Given the description of an element on the screen output the (x, y) to click on. 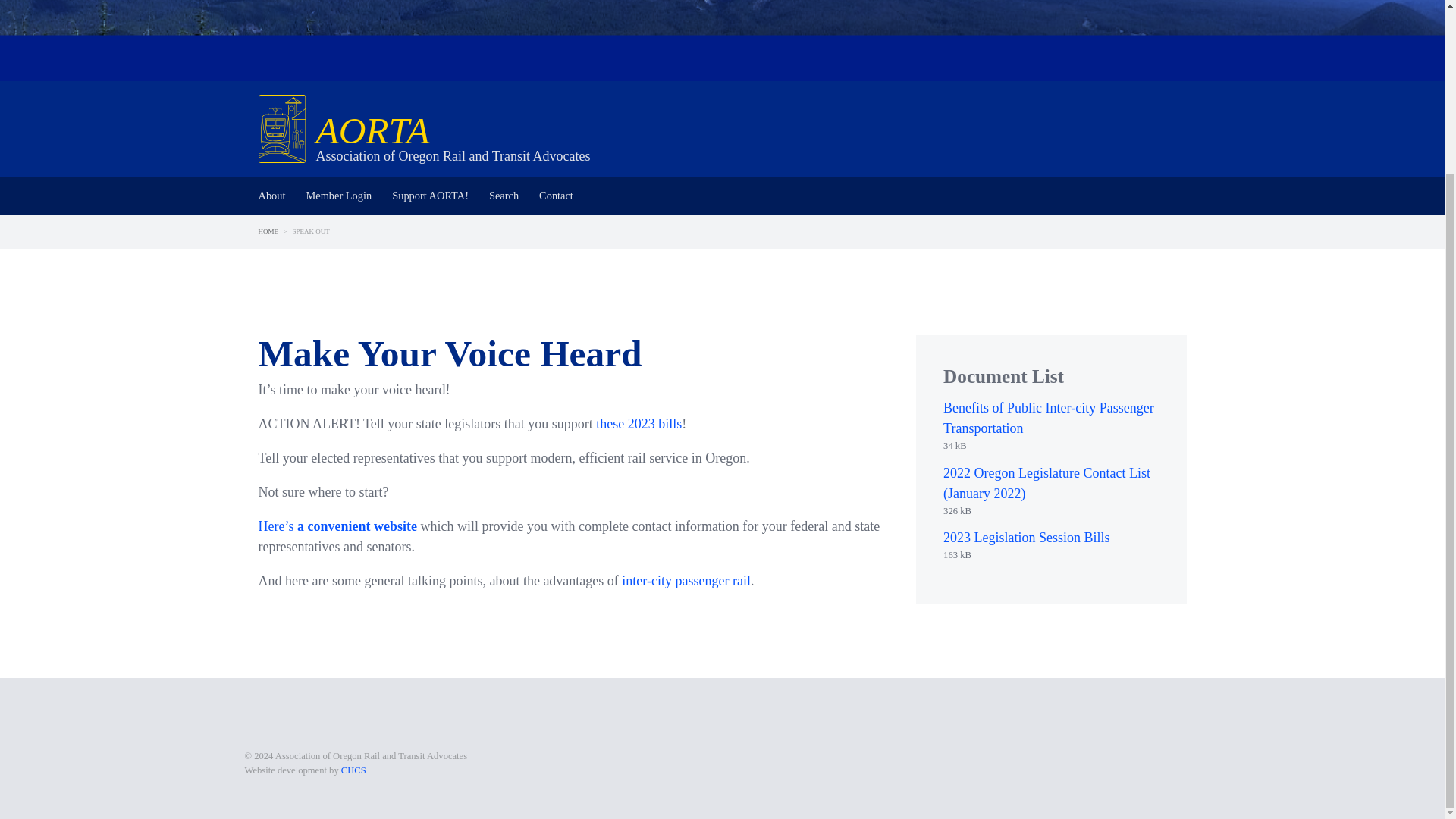
pdf (1050, 445)
HOME (268, 231)
Search (504, 195)
2023 Legislation Session Bills (1026, 537)
CHCS (353, 769)
Contact (555, 195)
inter-city passenger rail (686, 580)
pdf (1050, 511)
About (271, 195)
these 2023 bills (638, 423)
